Given the description of an element on the screen output the (x, y) to click on. 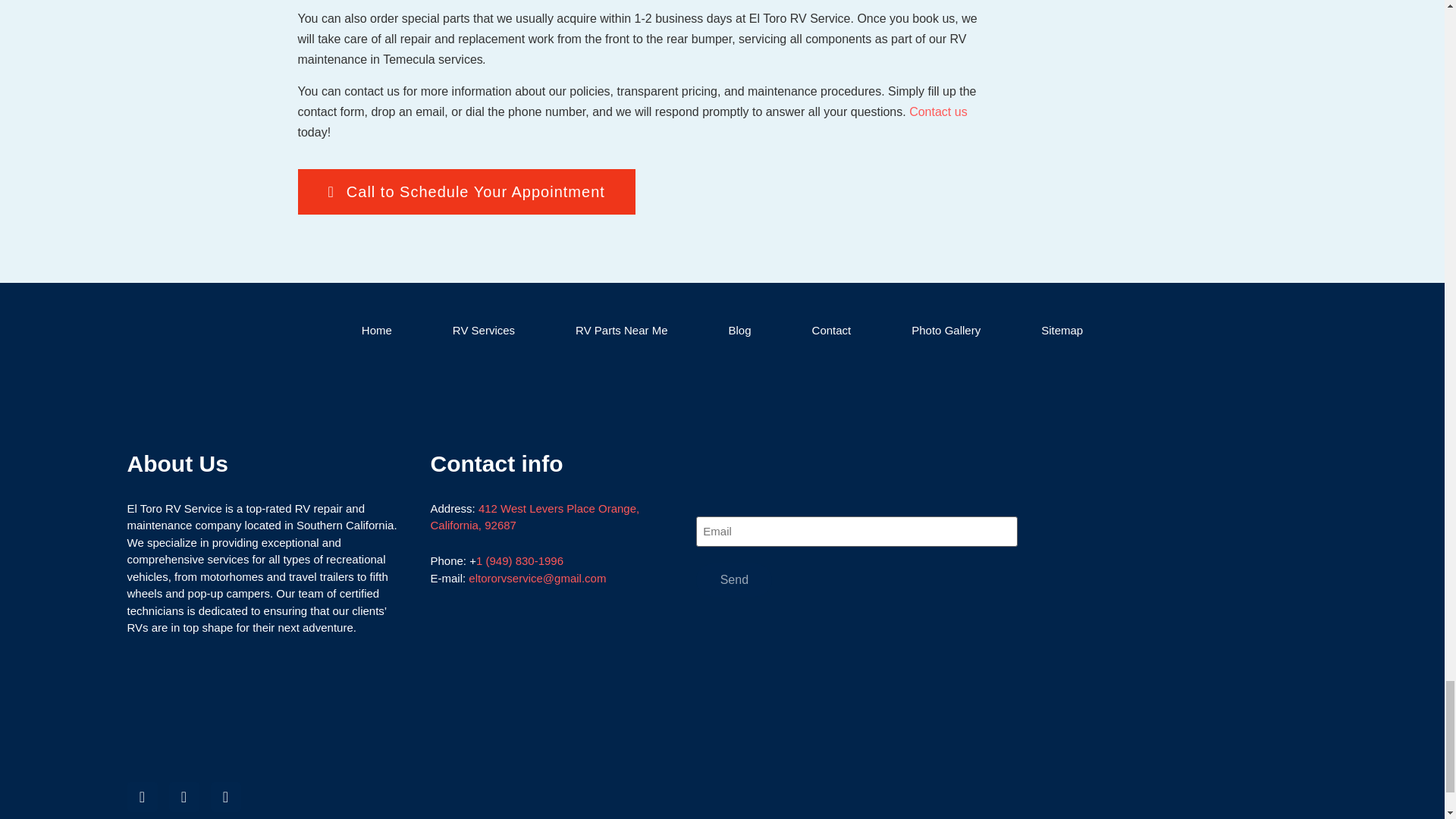
Send (733, 580)
